Given the description of an element on the screen output the (x, y) to click on. 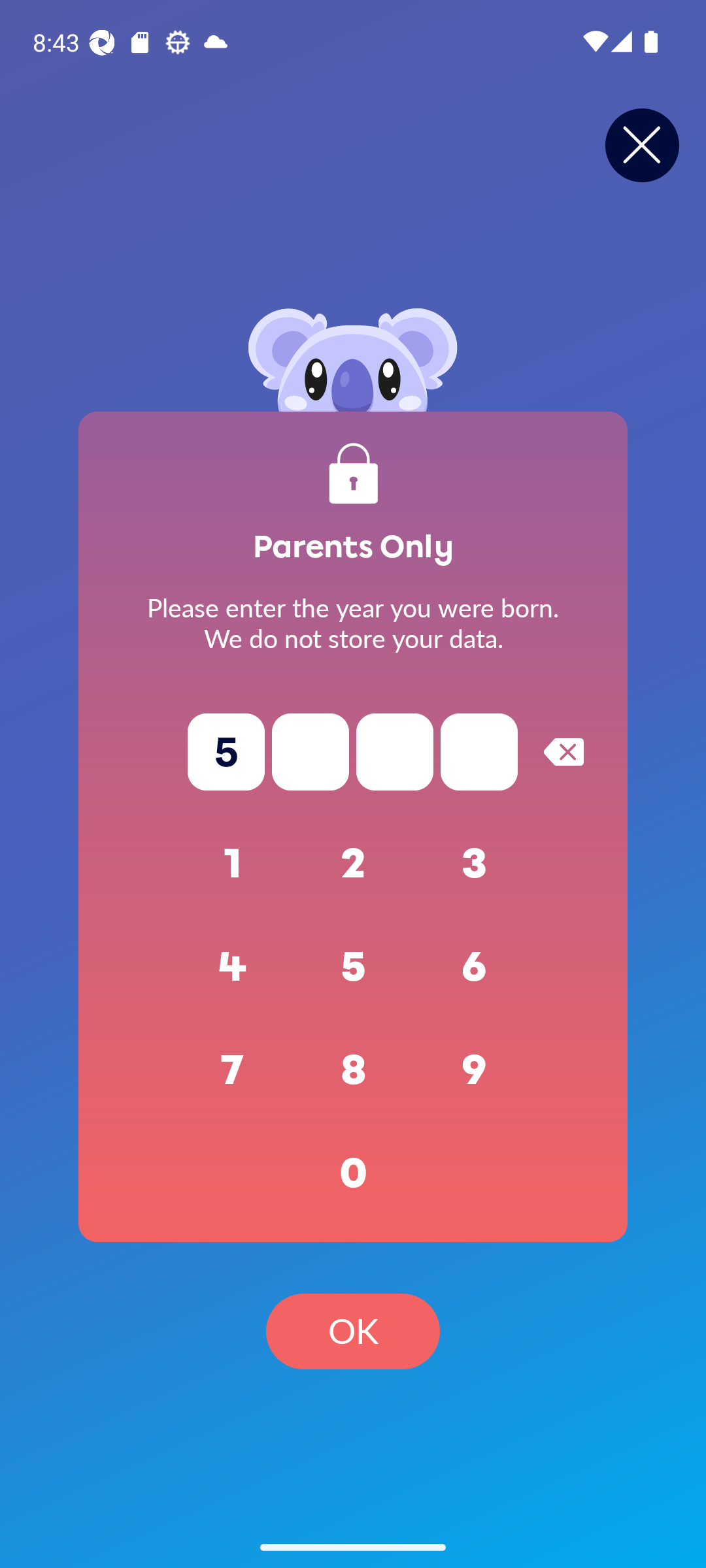
Delete (563, 751)
1 (232, 863)
2 (353, 863)
3 (474, 863)
4 (232, 966)
5 (353, 966)
6 (474, 966)
7 (232, 1069)
8 (353, 1069)
9 (474, 1069)
0 (353, 1173)
OK (352, 1331)
